Given the description of an element on the screen output the (x, y) to click on. 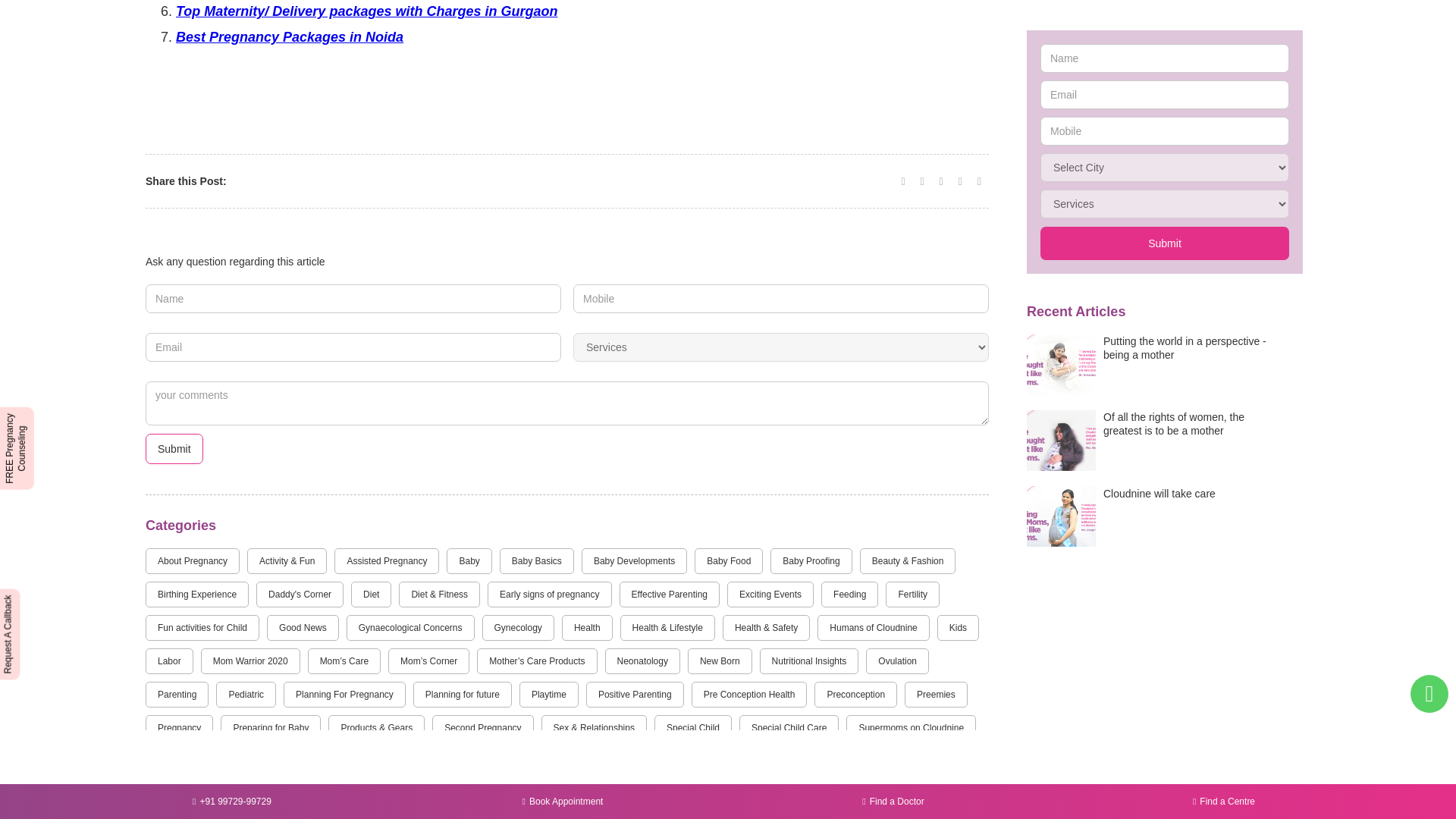
Submit (174, 449)
